Given the description of an element on the screen output the (x, y) to click on. 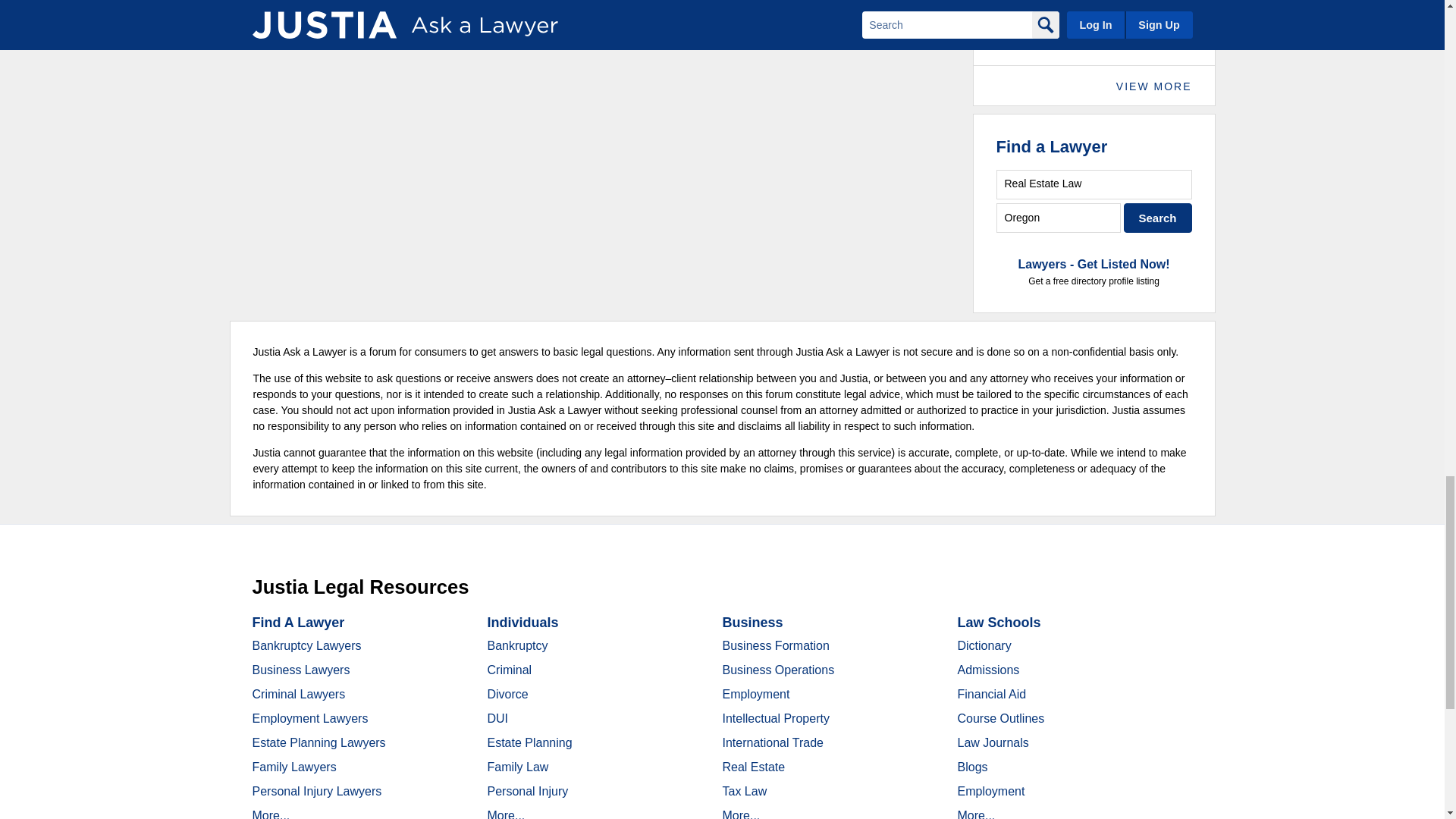
Legal Issue or Lawyer Name (1093, 184)
City, State (1058, 217)
Oregon (1058, 217)
Search (1158, 217)
Real Estate Law (1093, 184)
Search (1158, 217)
Ask a Lawyer - Leaderboard - Lawyer Stats (1127, 15)
Ask a Lawyer - Leaderboard - Lawyer Photo (1021, 22)
